Given the description of an element on the screen output the (x, y) to click on. 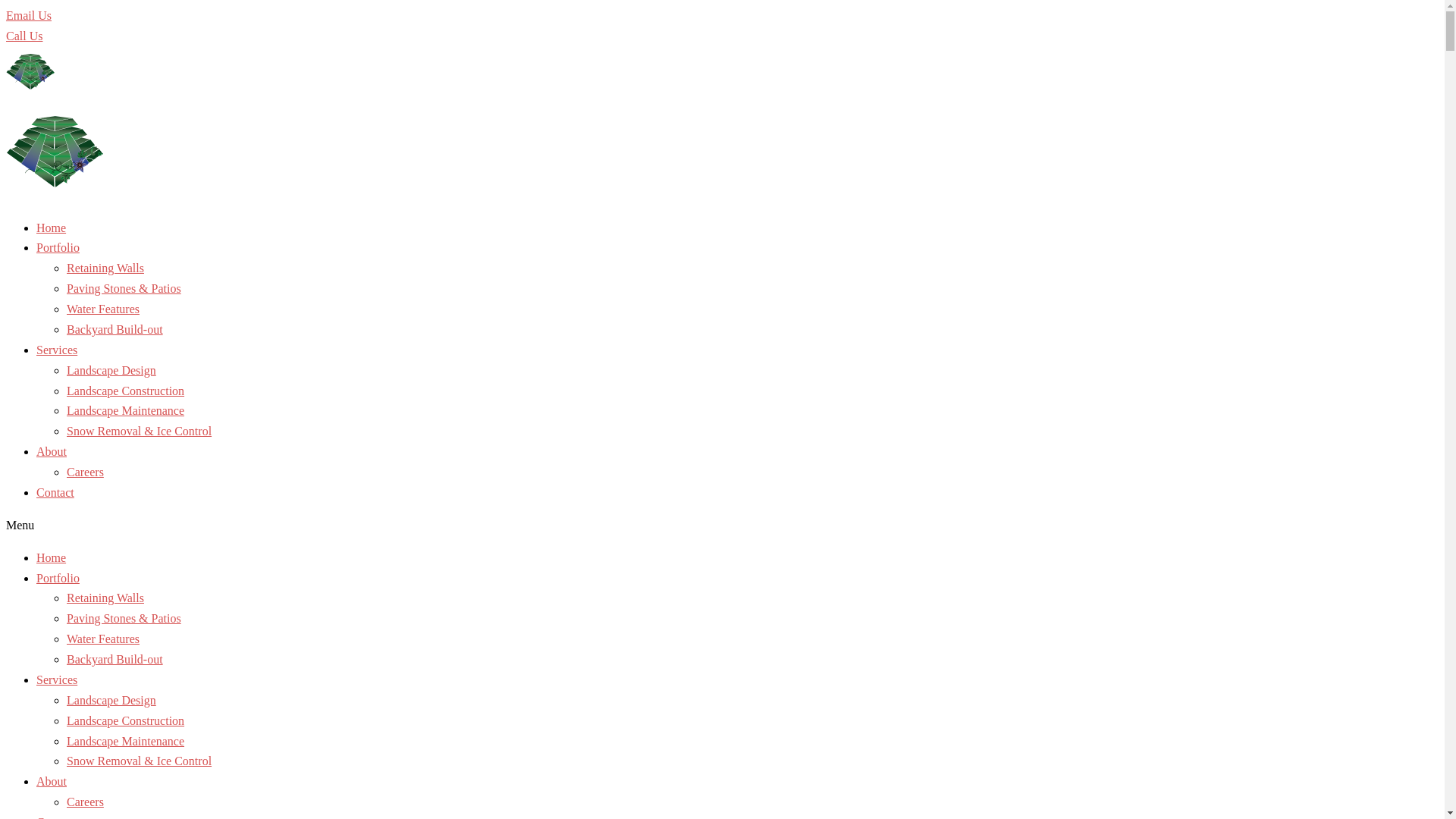
Landscape Design Element type: text (111, 699)
Paving Stones & Patios Element type: text (123, 617)
Services Element type: text (56, 349)
Paving Stones & Patios Element type: text (123, 288)
Portfolio Element type: text (57, 577)
Backyard Build-out Element type: text (114, 329)
Retaining Walls Element type: text (105, 597)
Retaining Walls Element type: text (105, 267)
Services Element type: text (56, 679)
Snow Removal & Ice Control Element type: text (138, 430)
Landscape Maintenance Element type: text (125, 740)
Landscape Maintenance Element type: text (125, 410)
Landscape Construction Element type: text (125, 389)
Snow Removal & Ice Control Element type: text (138, 760)
Landscape Construction Element type: text (125, 720)
Call Us Element type: text (24, 35)
Home Element type: text (50, 557)
Contact Element type: text (55, 492)
About Element type: text (51, 451)
Landscape Design Element type: text (111, 370)
About Element type: text (51, 781)
Email Us Element type: text (28, 15)
Backyard Build-out Element type: text (114, 658)
Careers Element type: text (84, 471)
Home Element type: text (50, 227)
Careers Element type: text (84, 801)
Water Features Element type: text (102, 308)
Portfolio Element type: text (57, 247)
Water Features Element type: text (102, 638)
